Given the description of an element on the screen output the (x, y) to click on. 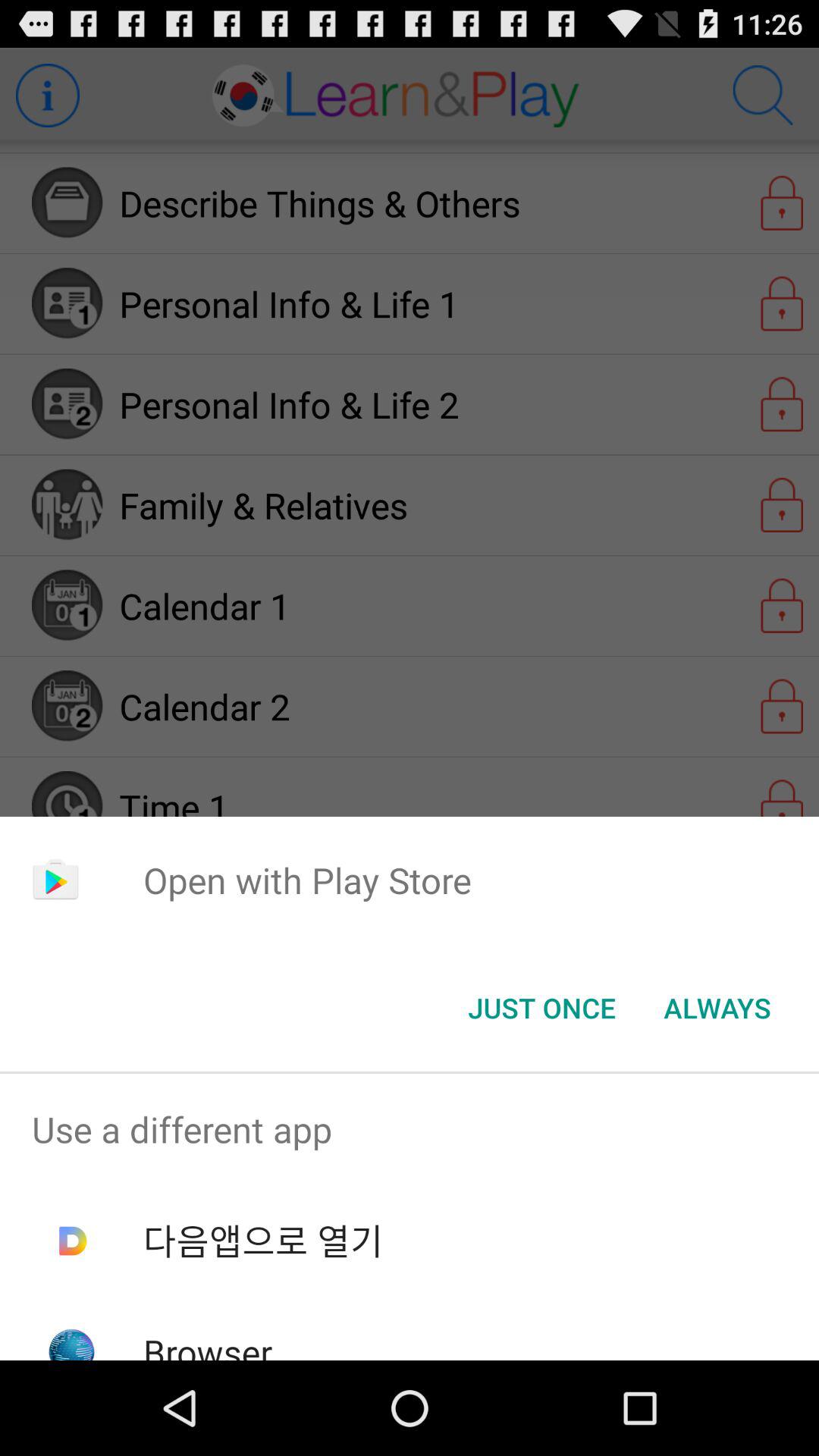
choose the just once item (541, 1007)
